Given the description of an element on the screen output the (x, y) to click on. 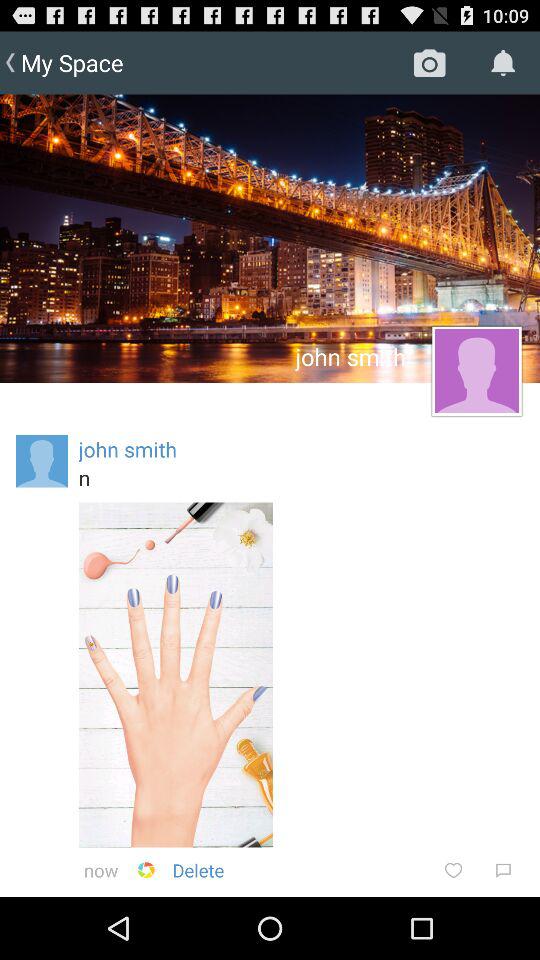
flip to n (301, 477)
